Given the description of an element on the screen output the (x, y) to click on. 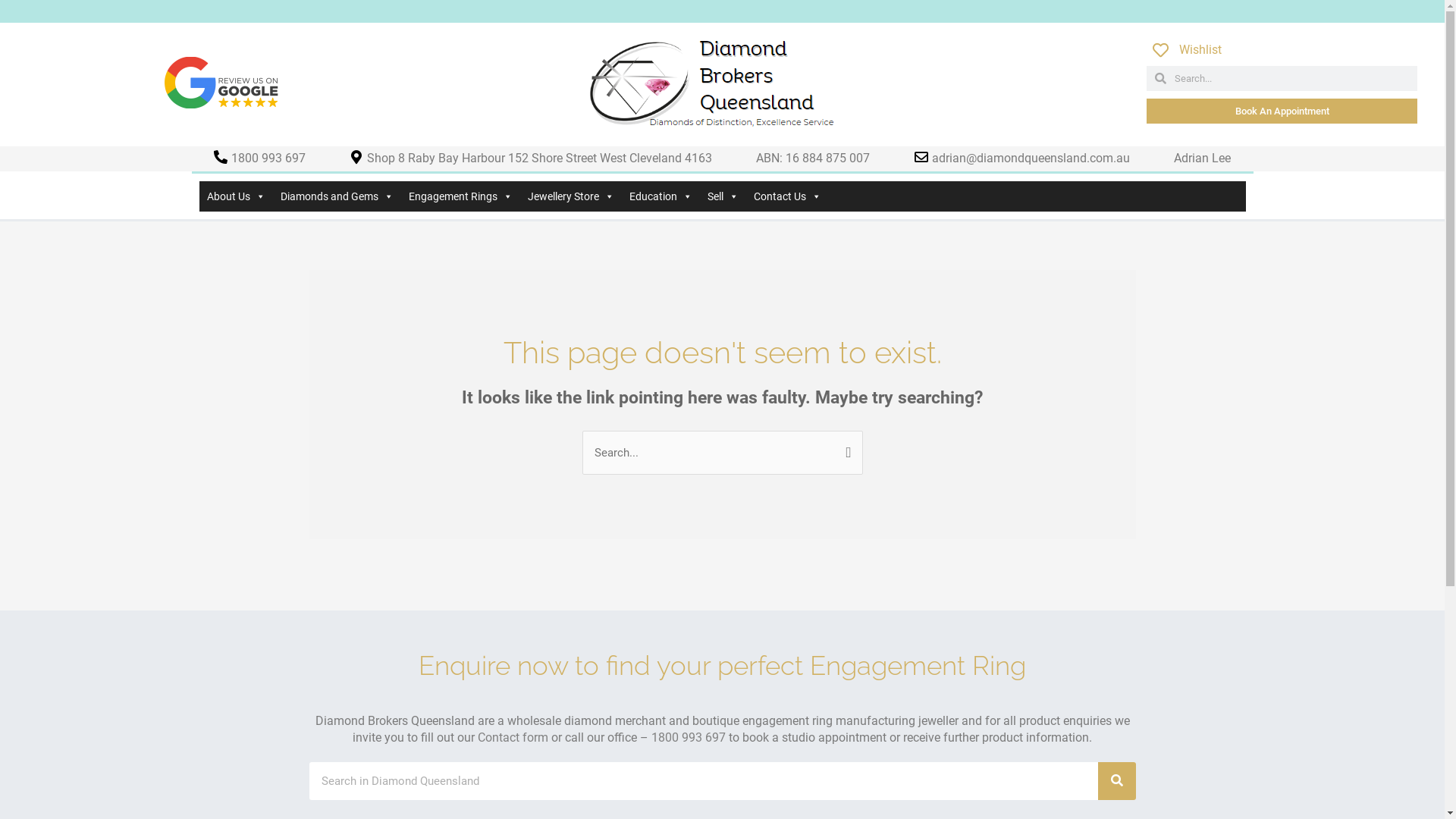
1800 993 697 Element type: text (688, 737)
Wishlist Element type: text (1284, 49)
Education Element type: text (660, 196)
Contact form Element type: text (512, 737)
Jewellery Store Element type: text (570, 196)
Engagement Rings Element type: text (459, 196)
Search Element type: text (845, 450)
Search Element type: text (1116, 781)
About Us Element type: text (235, 196)
Diamond-Queensland Element type: hover (712, 82)
Review us on google Element type: hover (221, 82)
Sell Element type: text (722, 196)
Contact Us Element type: text (787, 196)
Book An Appointment Element type: text (1281, 110)
Diamonds and Gems Element type: text (337, 196)
